Given the description of an element on the screen output the (x, y) to click on. 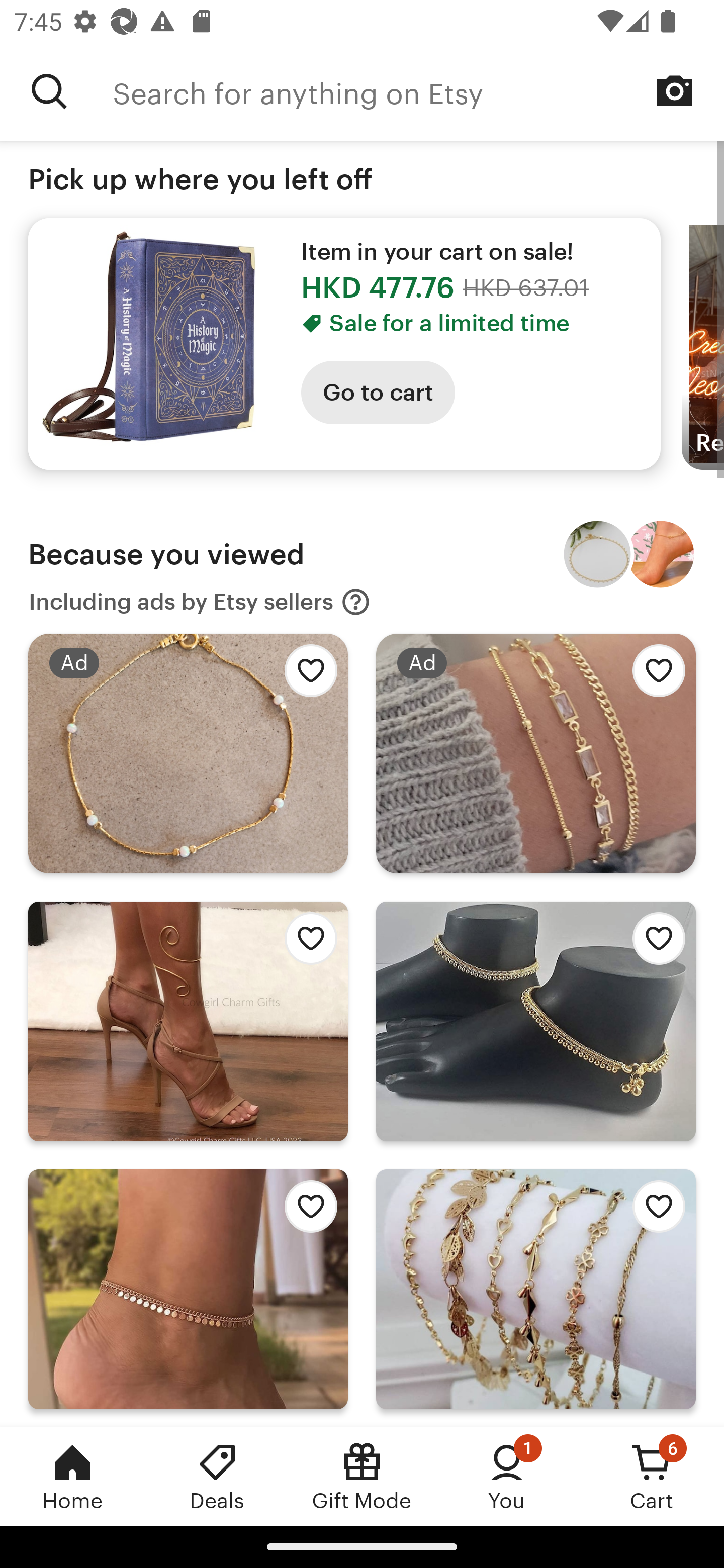
Search for anything on Etsy (49, 91)
Search by image (674, 90)
Search for anything on Etsy (418, 91)
Including ads by Etsy sellers (199, 601)
Deals (216, 1475)
Gift Mode (361, 1475)
You, 1 new notification You (506, 1475)
Cart, 6 new notifications Cart (651, 1475)
